Given the description of an element on the screen output the (x, y) to click on. 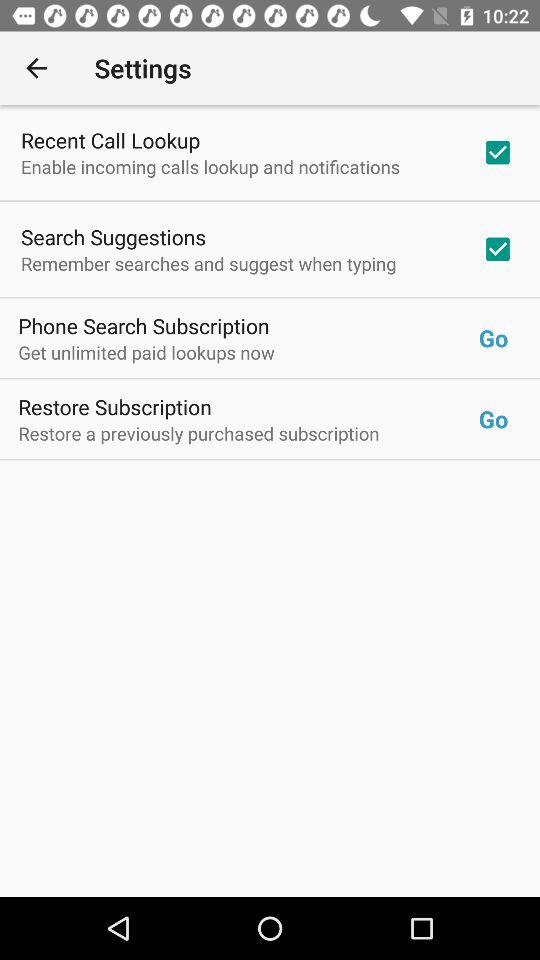
open item above the get unlimited paid icon (143, 325)
